Given the description of an element on the screen output the (x, y) to click on. 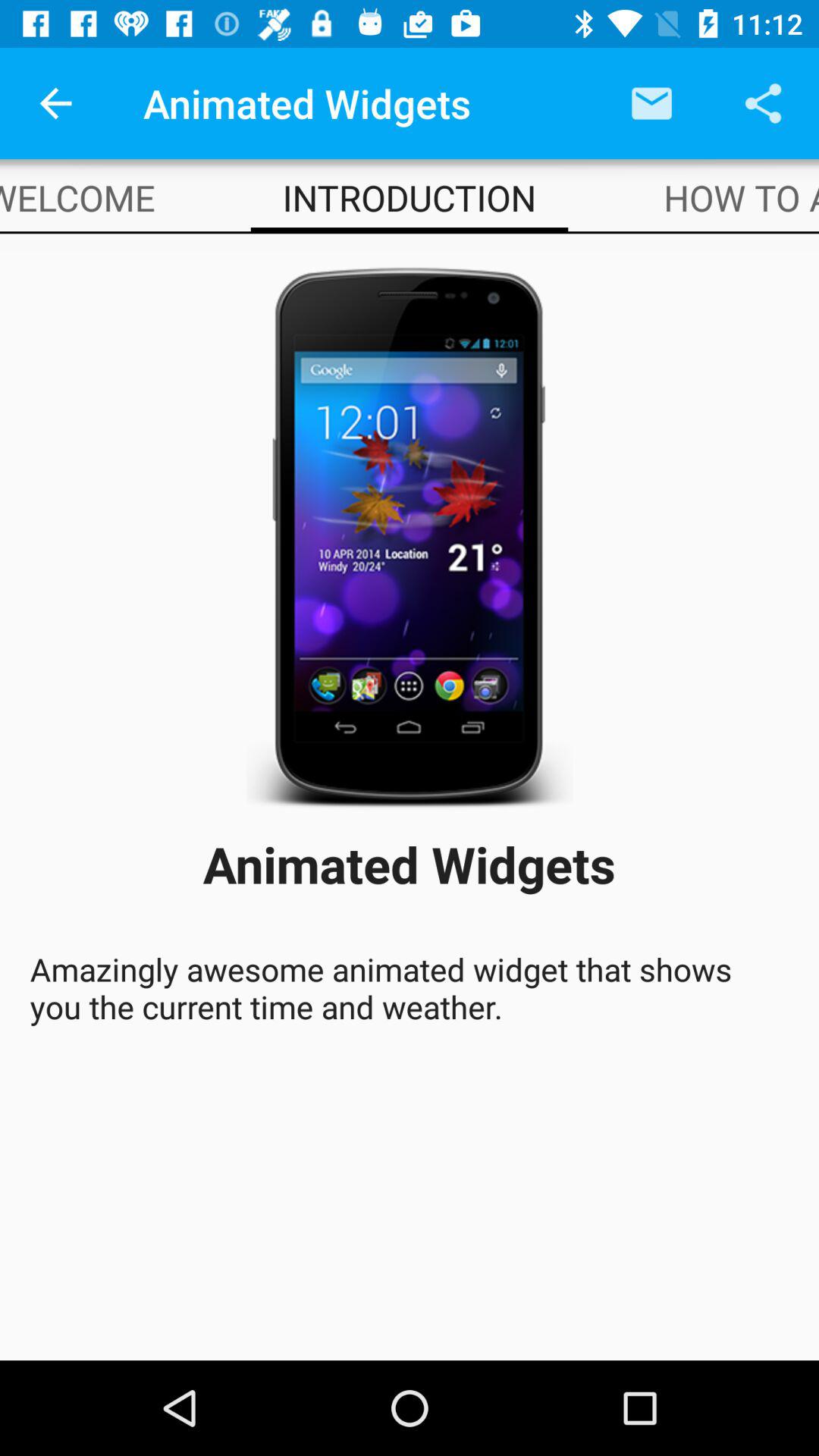
select item above welcome app (55, 103)
